Given the description of an element on the screen output the (x, y) to click on. 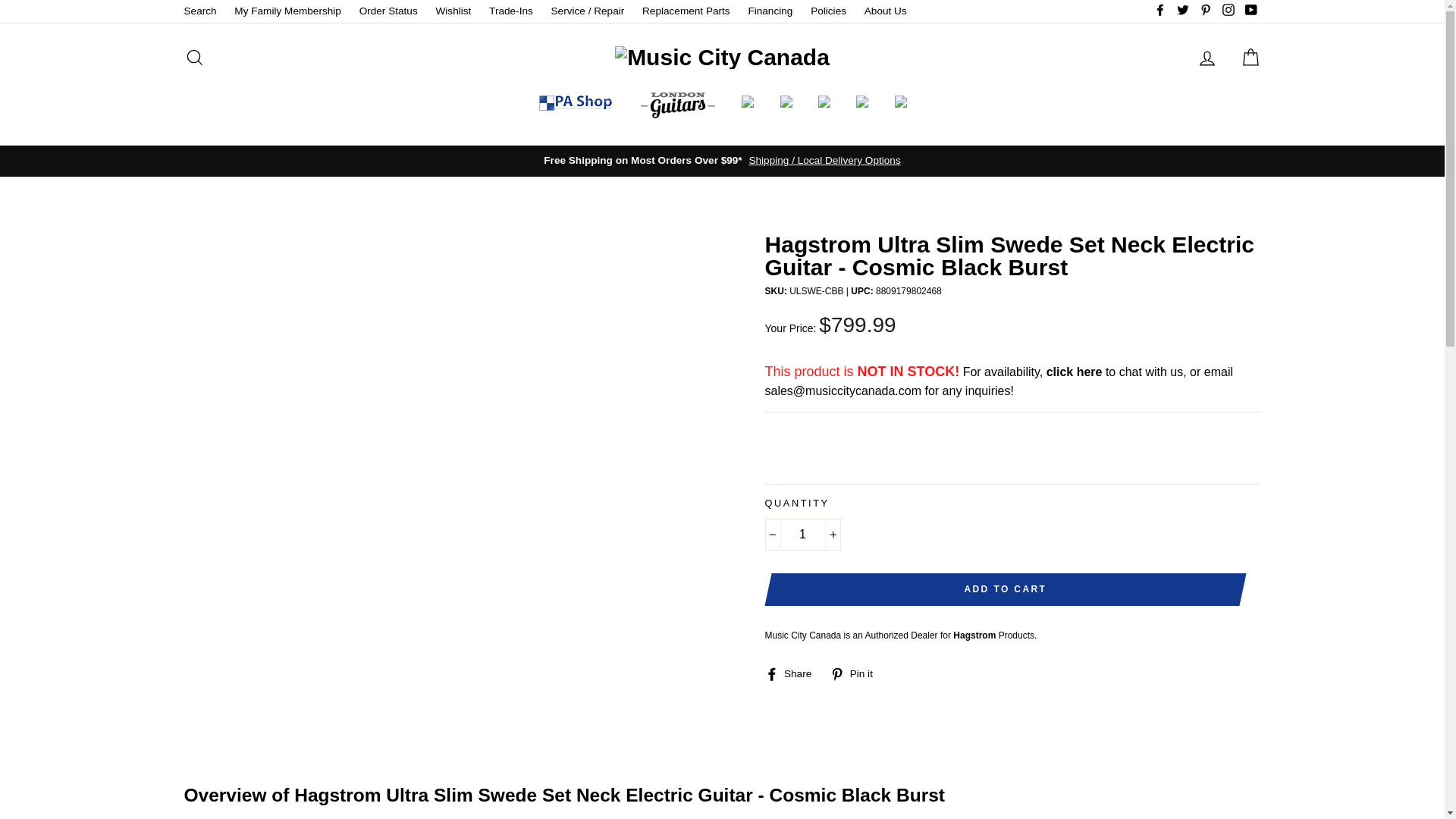
Pin on Pinterest (856, 673)
1 (802, 534)
Hagstrom (974, 634)
Share on Facebook (793, 673)
